Given the description of an element on the screen output the (x, y) to click on. 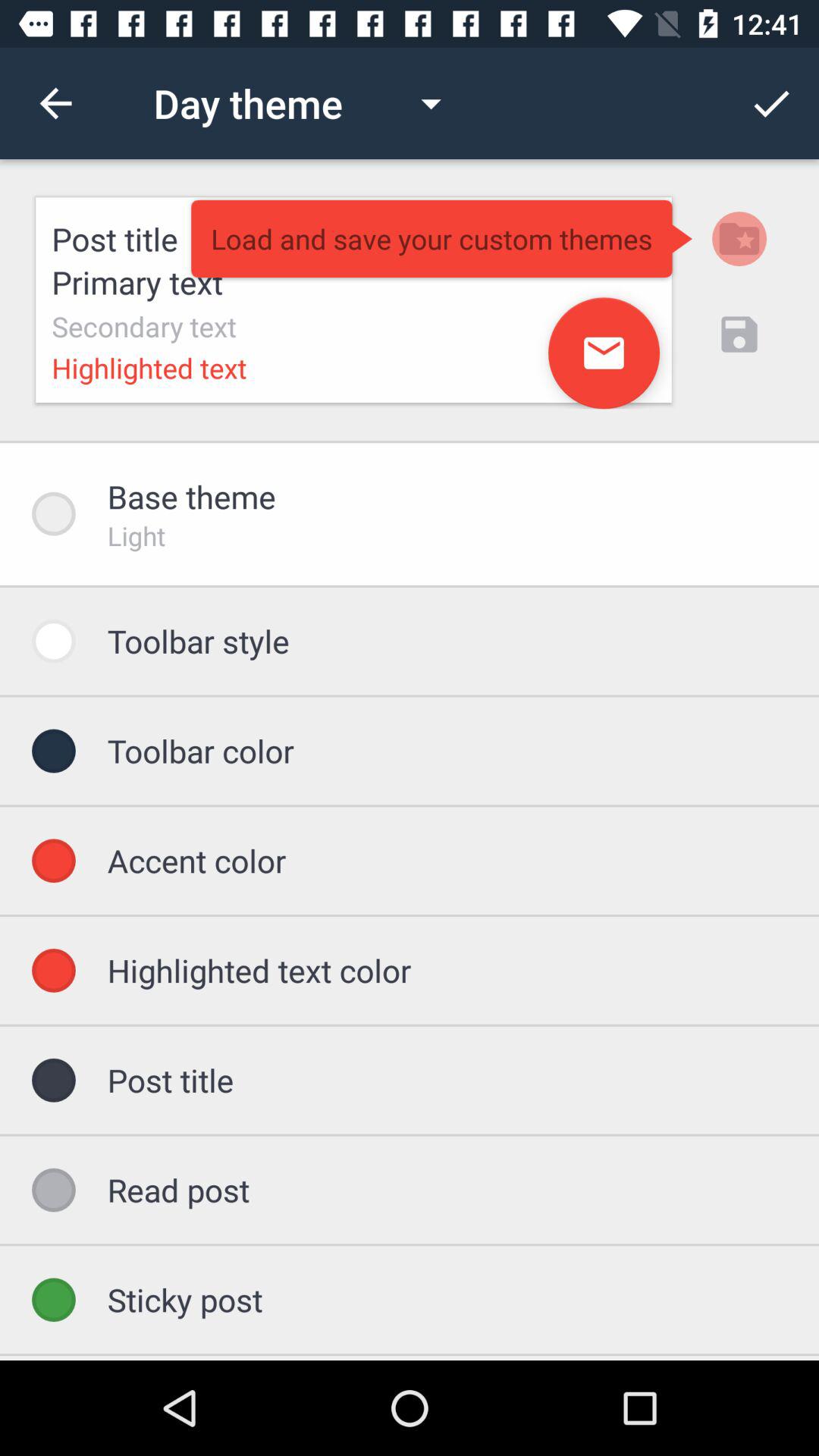
click on the text below the text day theme (353, 299)
click the folder icon on the web page (738, 238)
select the icon below the folder icon on the web page (739, 333)
click on the second icon from the right top of the page (739, 238)
click on the button at the top right corner of the page (771, 103)
